Given the description of an element on the screen output the (x, y) to click on. 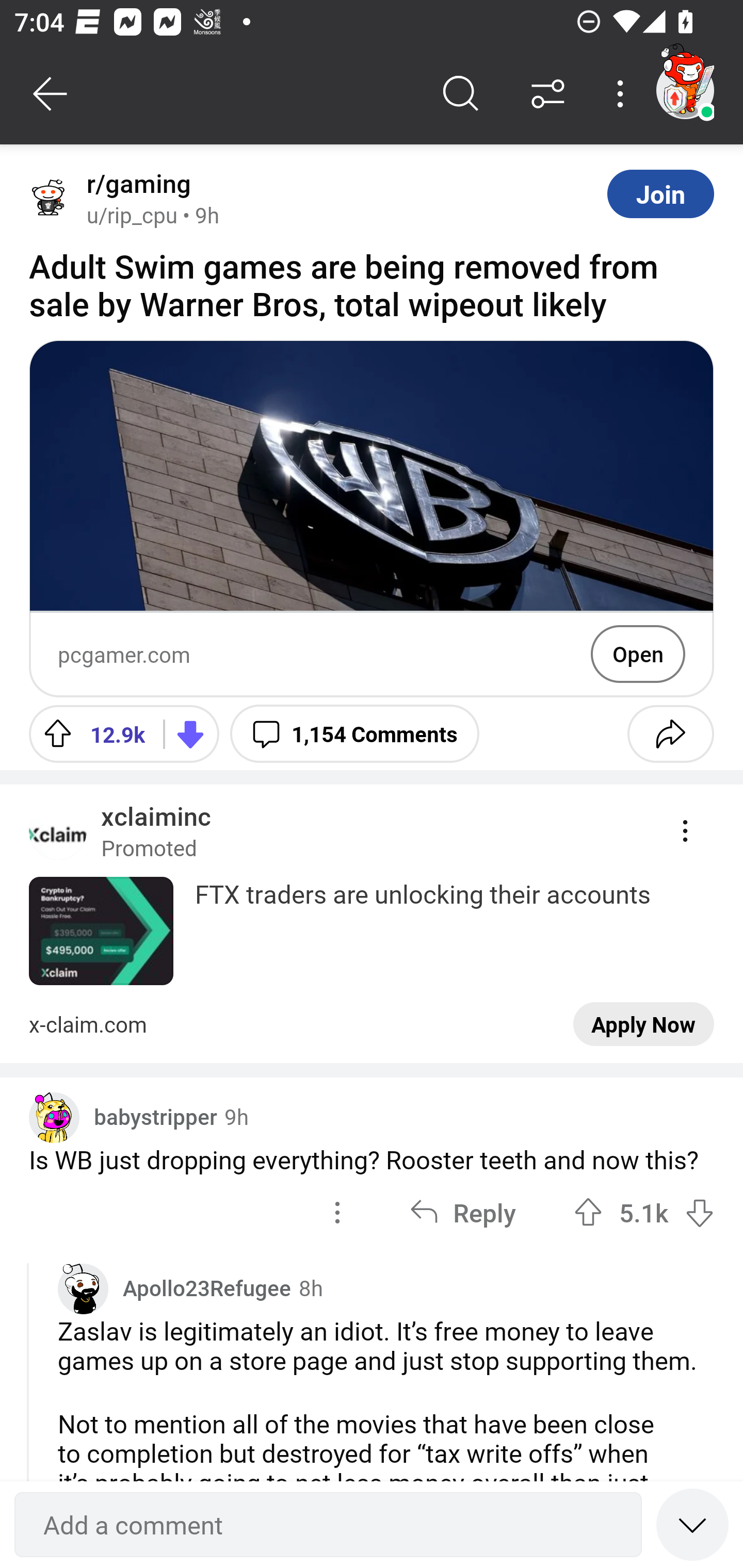
Back (50, 93)
TestAppium002 account (685, 90)
Search comments (460, 93)
Sort comments (547, 93)
More options (623, 93)
r/gaming (135, 183)
Join (660, 193)
Avatar (50, 199)
Preview Image pcgamer.com Open (371, 518)
Open (637, 654)
Upvote 12.9k (88, 733)
1,154 Comments (354, 733)
Share (670, 733)
Custom avatar (53, 1117)
options (337, 1212)
Reply (462, 1212)
Upvote 5.1k 5071 votes Downvote (643, 1212)
Custom avatar (82, 1288)
Speed read (692, 1524)
Add a comment (327, 1524)
